Given the description of an element on the screen output the (x, y) to click on. 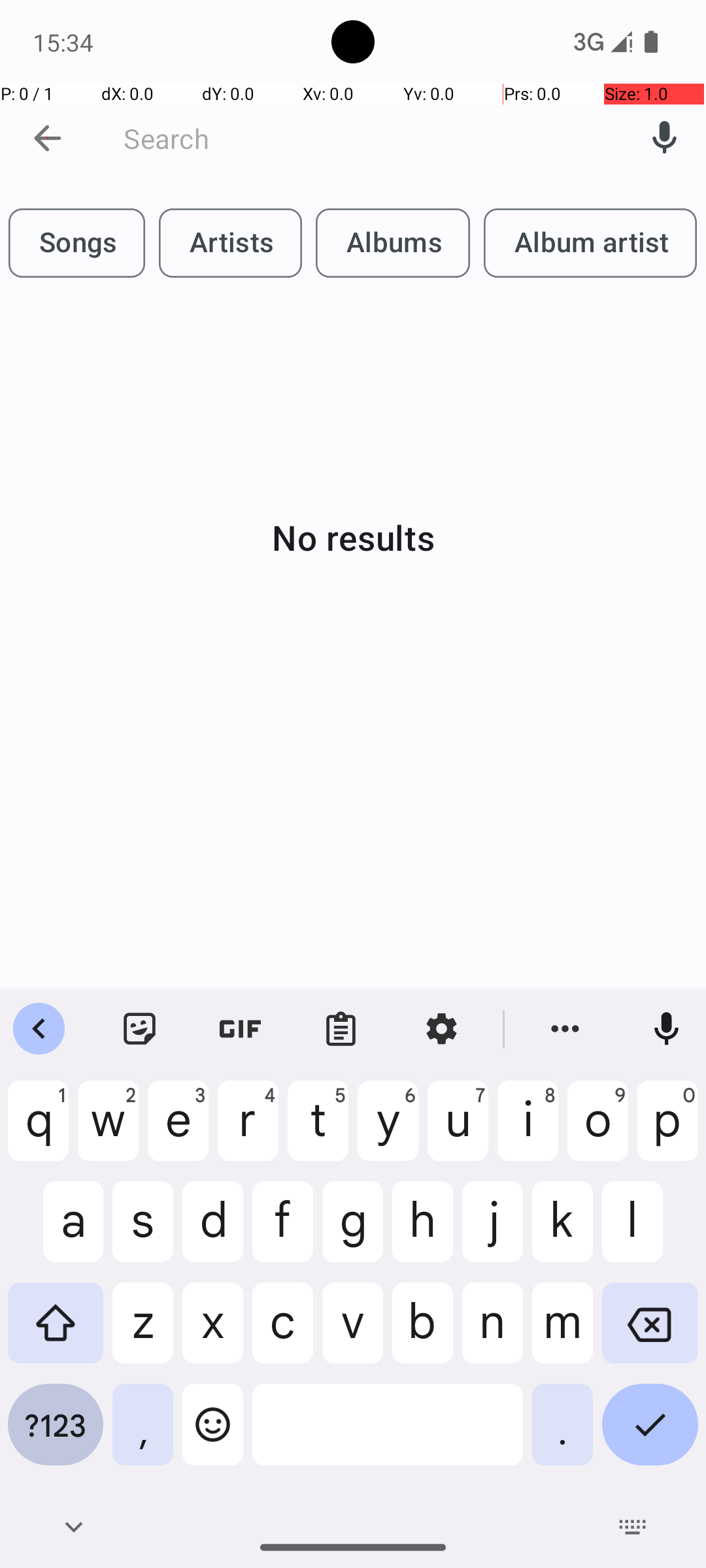
No results Element type: android.widget.TextView (352, 537)
Album artist Element type: android.widget.RadioButton (589, 242)
